Given the description of an element on the screen output the (x, y) to click on. 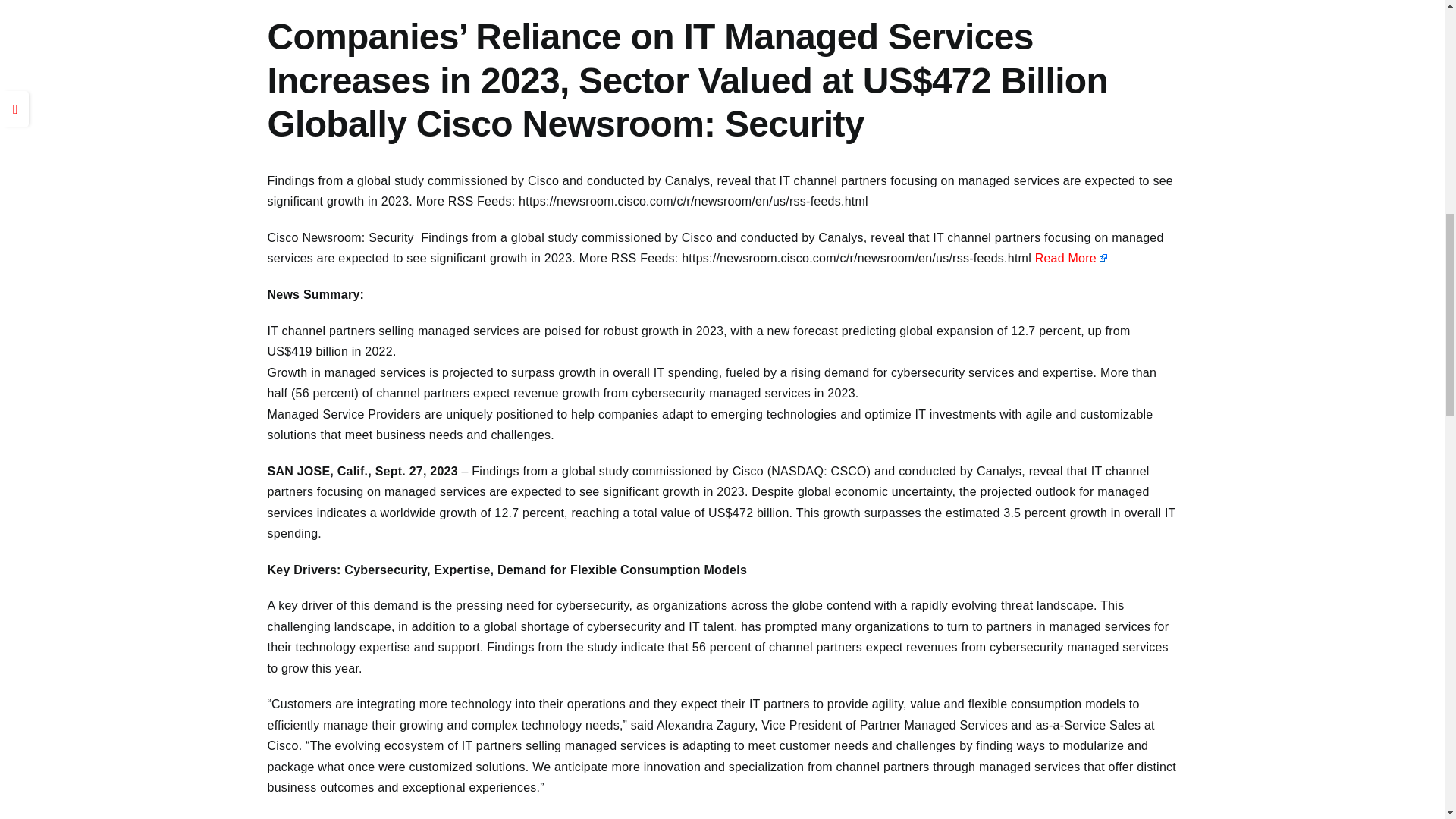
Read More (1071, 257)
